Given the description of an element on the screen output the (x, y) to click on. 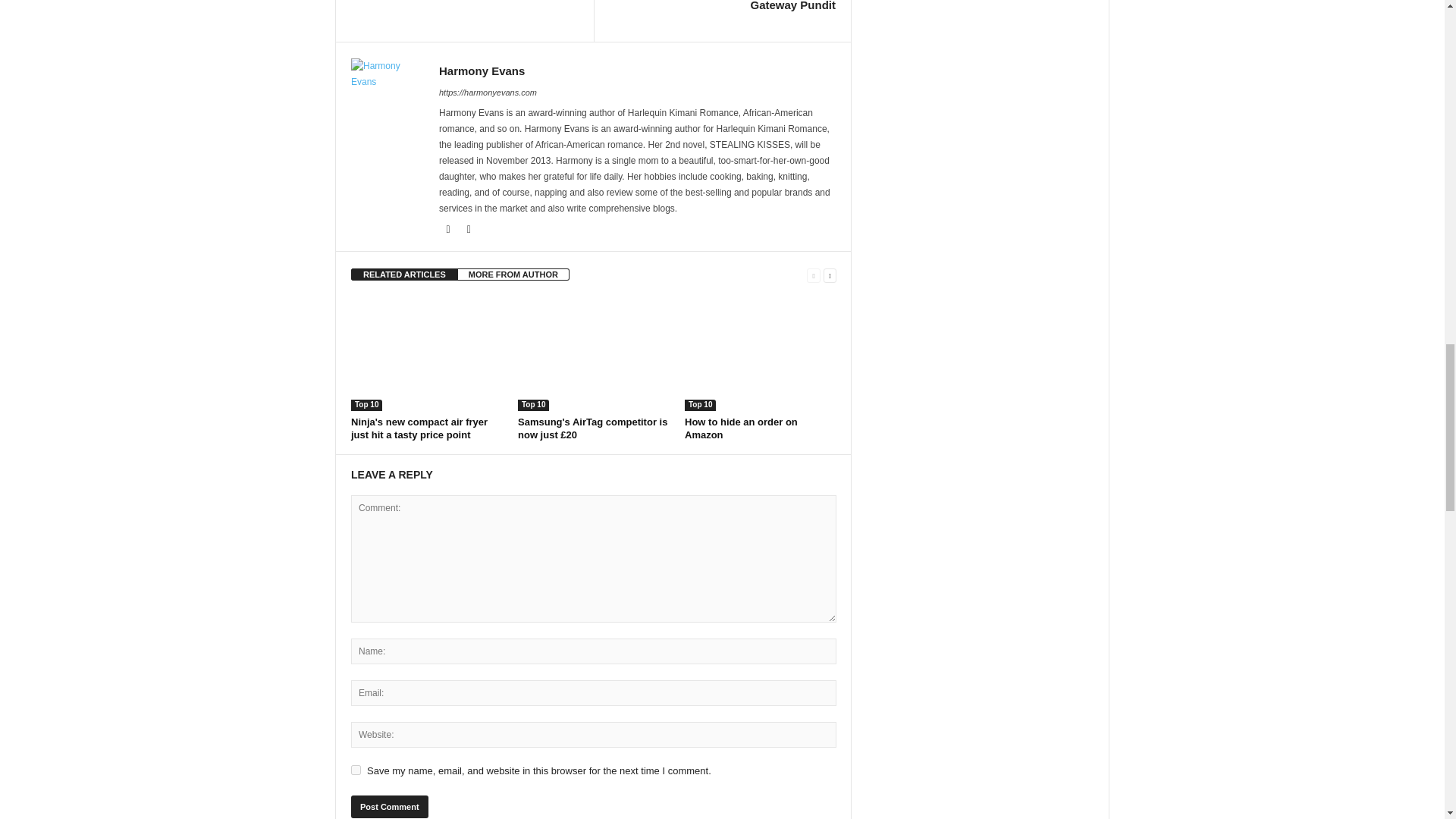
yes (355, 769)
Post Comment (389, 806)
